Given the description of an element on the screen output the (x, y) to click on. 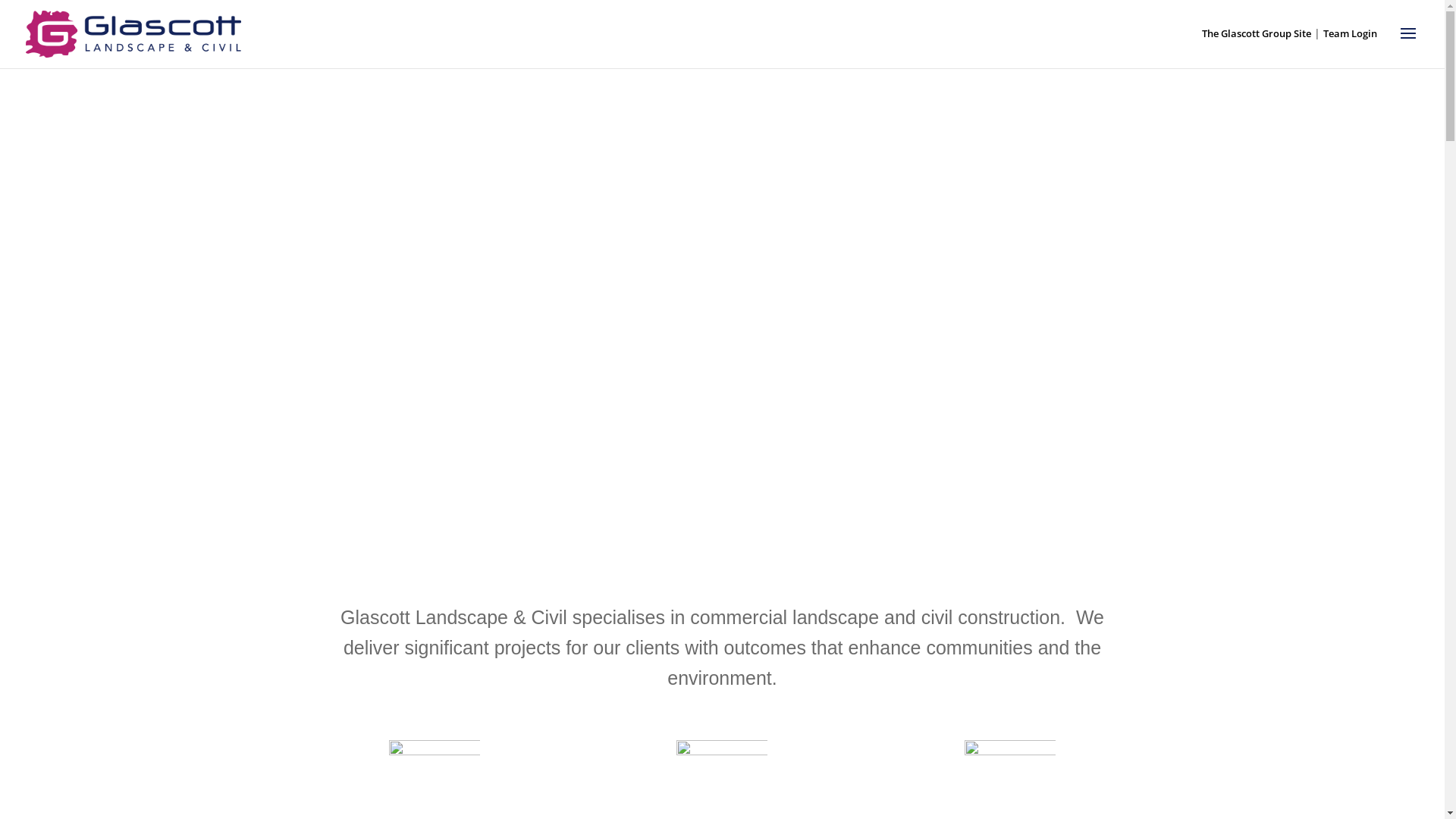
The Glascott Group Site Element type: text (1256, 33)
Team Login Element type: text (1350, 33)
